Given the description of an element on the screen output the (x, y) to click on. 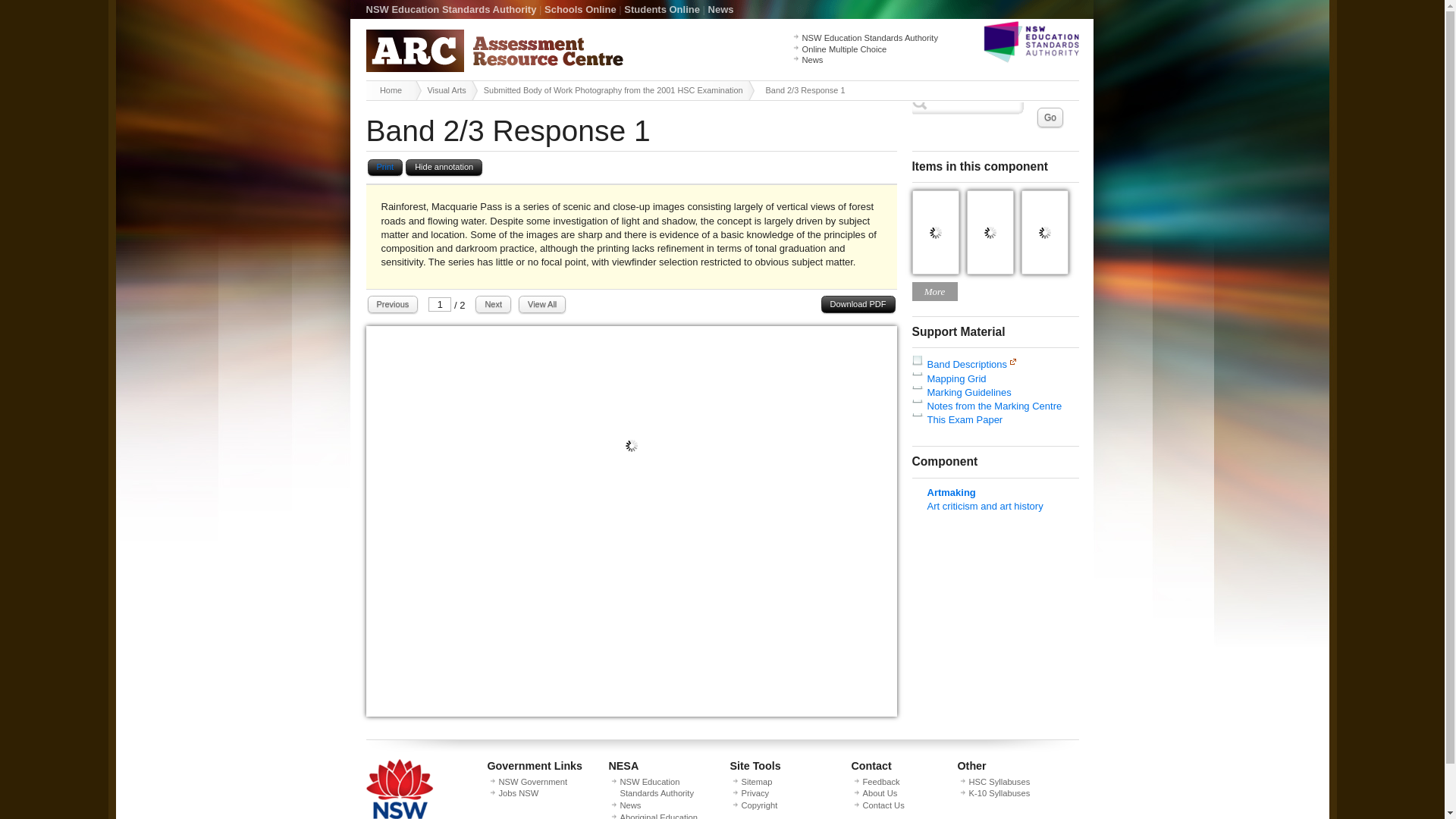
Schools Online (579, 9)
1 (439, 304)
Visual Arts (449, 90)
News (813, 59)
Hide annotation (443, 167)
Print (384, 167)
Download PDF (858, 303)
Previous (391, 303)
Page 1 (630, 713)
Band Descriptions (966, 364)
